Given the description of an element on the screen output the (x, y) to click on. 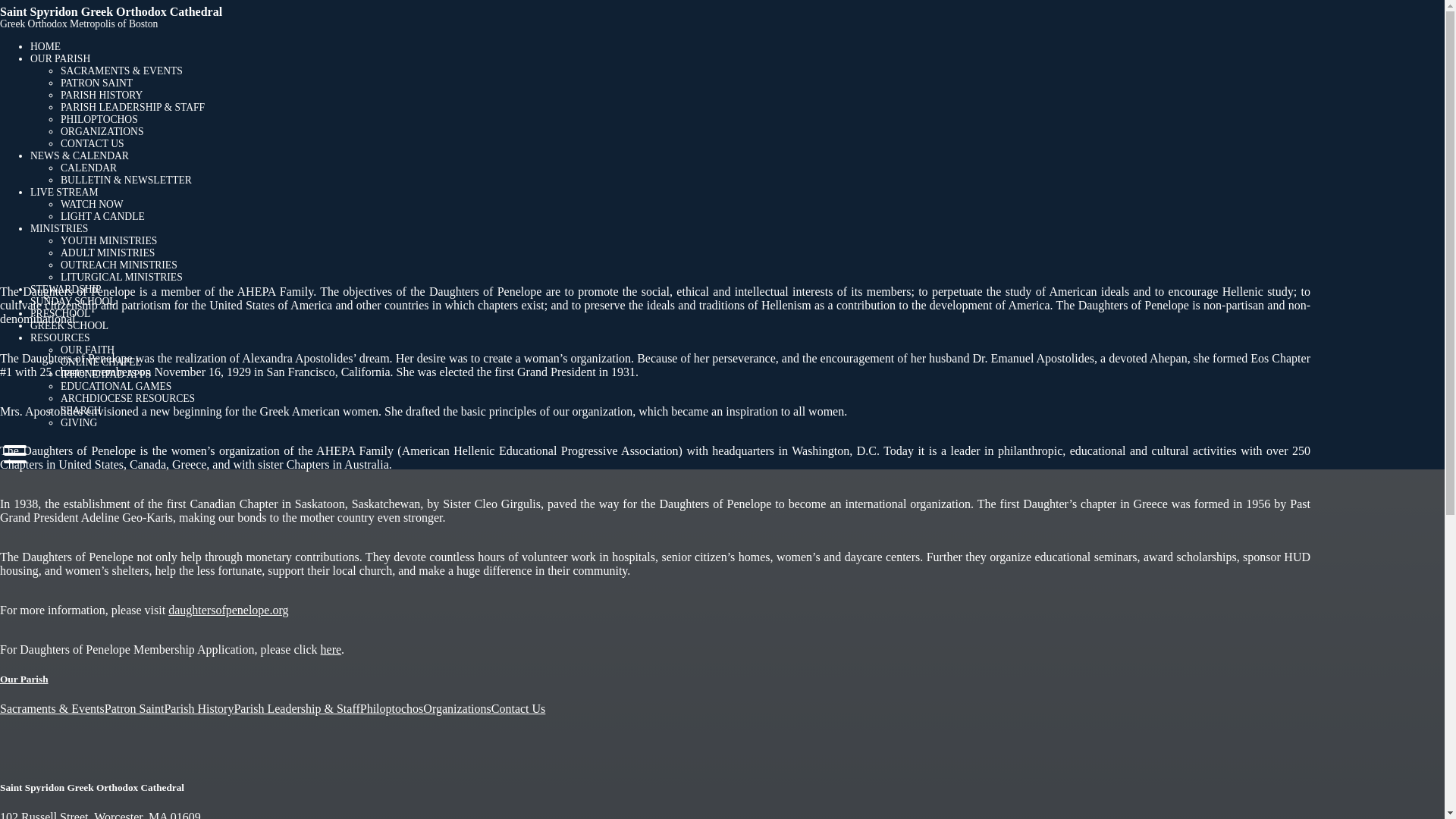
Live Stream (64, 192)
Saint Spyridon Greek Orthodox Cathedral (111, 11)
Our Parish (60, 58)
Patron Saint (134, 707)
Philoptochos (391, 707)
Ministries (58, 228)
PATRON SAINT (96, 82)
Contact Us (519, 707)
Resources (60, 337)
OUR PARISH (60, 58)
HOME (45, 46)
PARISH HISTORY (101, 94)
Organizations (456, 707)
Parish History (197, 707)
